Given the description of an element on the screen output the (x, y) to click on. 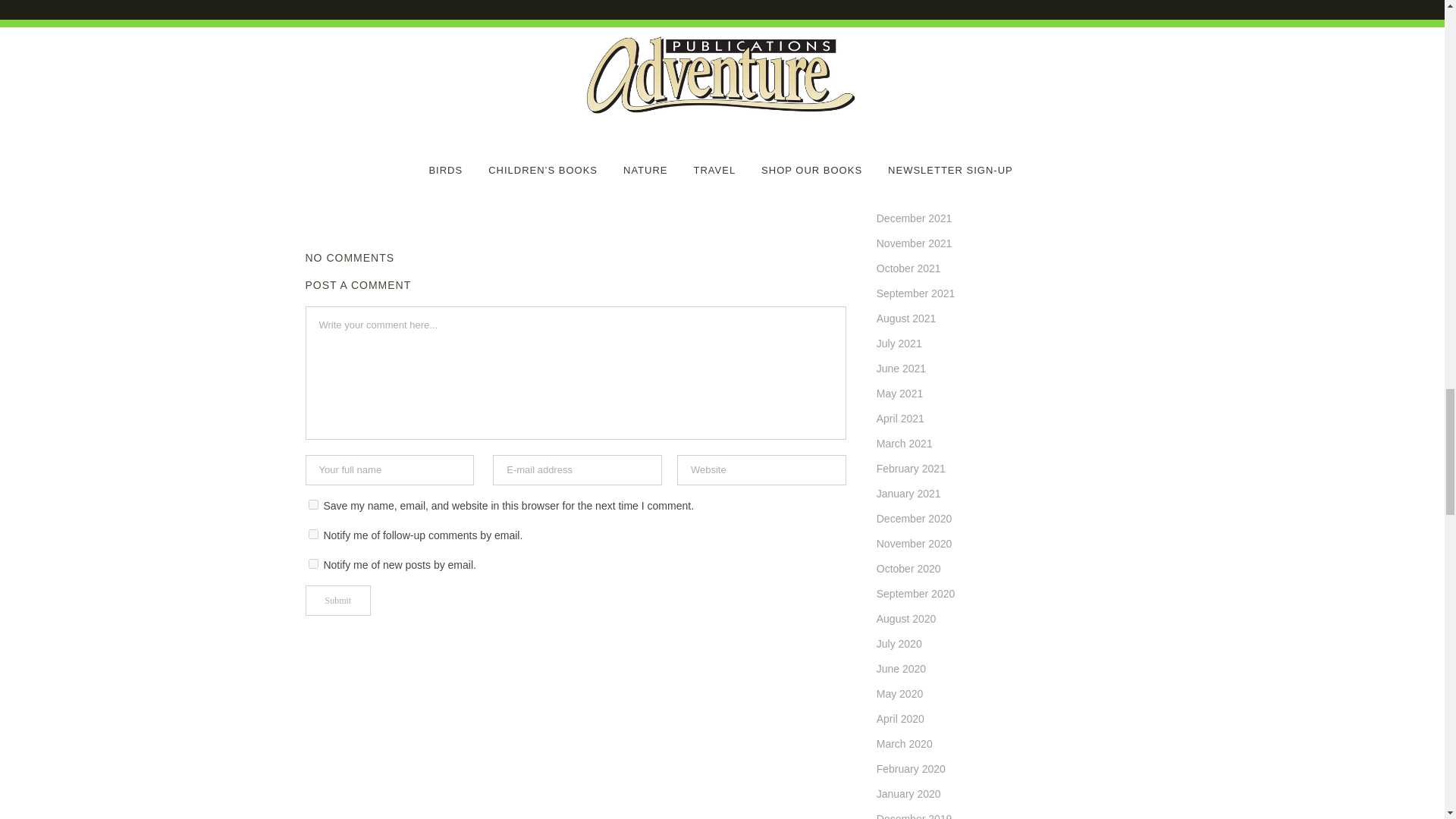
Playing Cards (703, 14)
Swift-Tuttle Comet (353, 44)
Perseids Meteor Shower (596, 14)
Meteor Shower (417, 14)
subscribe (312, 563)
Giveaway (336, 14)
Stargazing (782, 14)
subscribe (312, 533)
yes (312, 504)
Submit (337, 600)
Night Sky (497, 14)
